Given the description of an element on the screen output the (x, y) to click on. 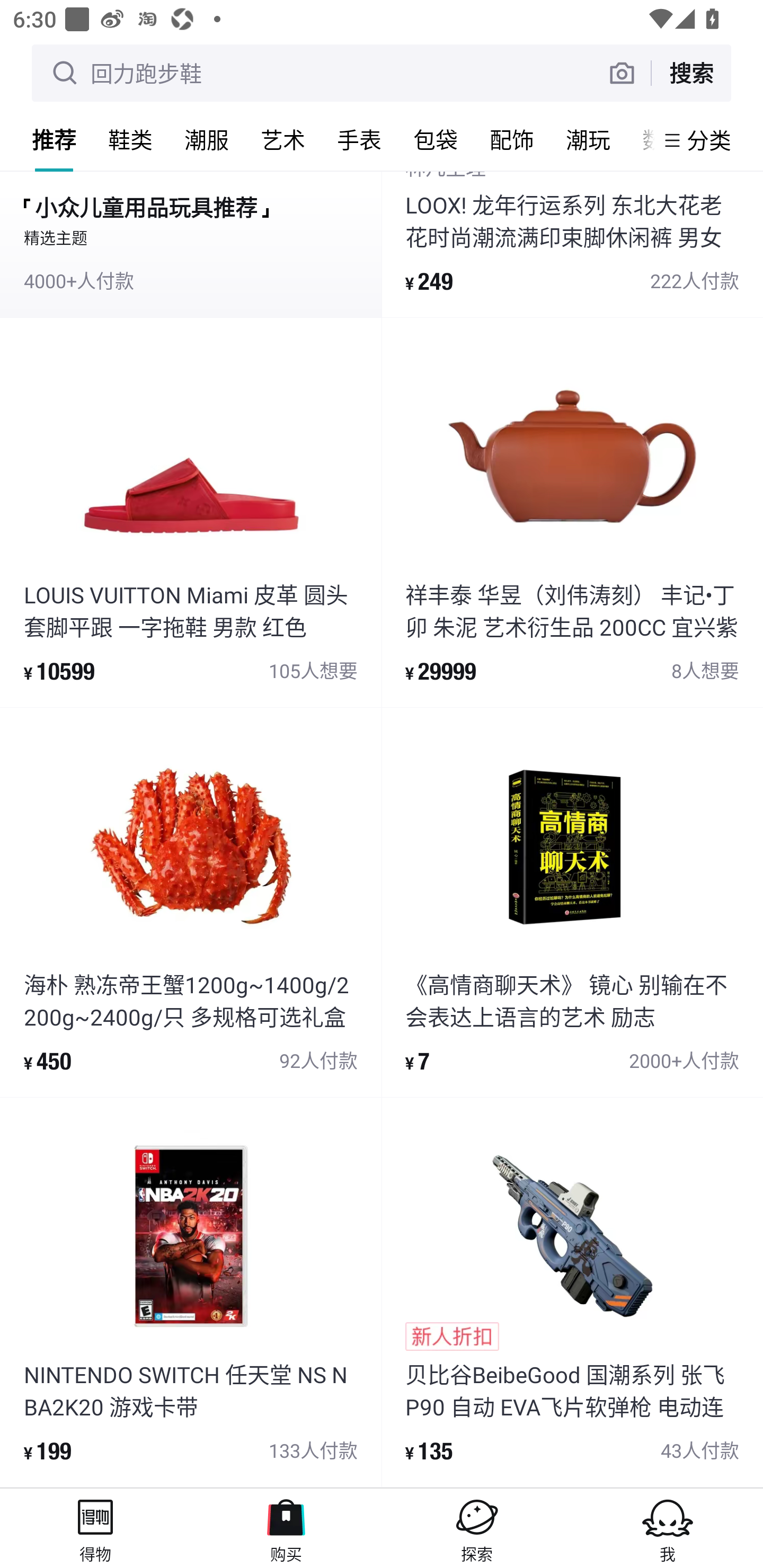
回力跑步鞋 搜索 (381, 72)
搜索 (690, 72)
推荐 (54, 139)
鞋类 (130, 139)
潮服 (206, 139)
艺术 (282, 139)
手表 (359, 139)
包袋 (435, 139)
配饰 (511, 139)
潮玩 (588, 139)
分类 (708, 139)
小众儿童用品玩具推荐 精选主题 4000+人付款 (190, 243)
得物 (95, 1528)
购买 (285, 1528)
探索 (476, 1528)
我 (667, 1528)
